Given the description of an element on the screen output the (x, y) to click on. 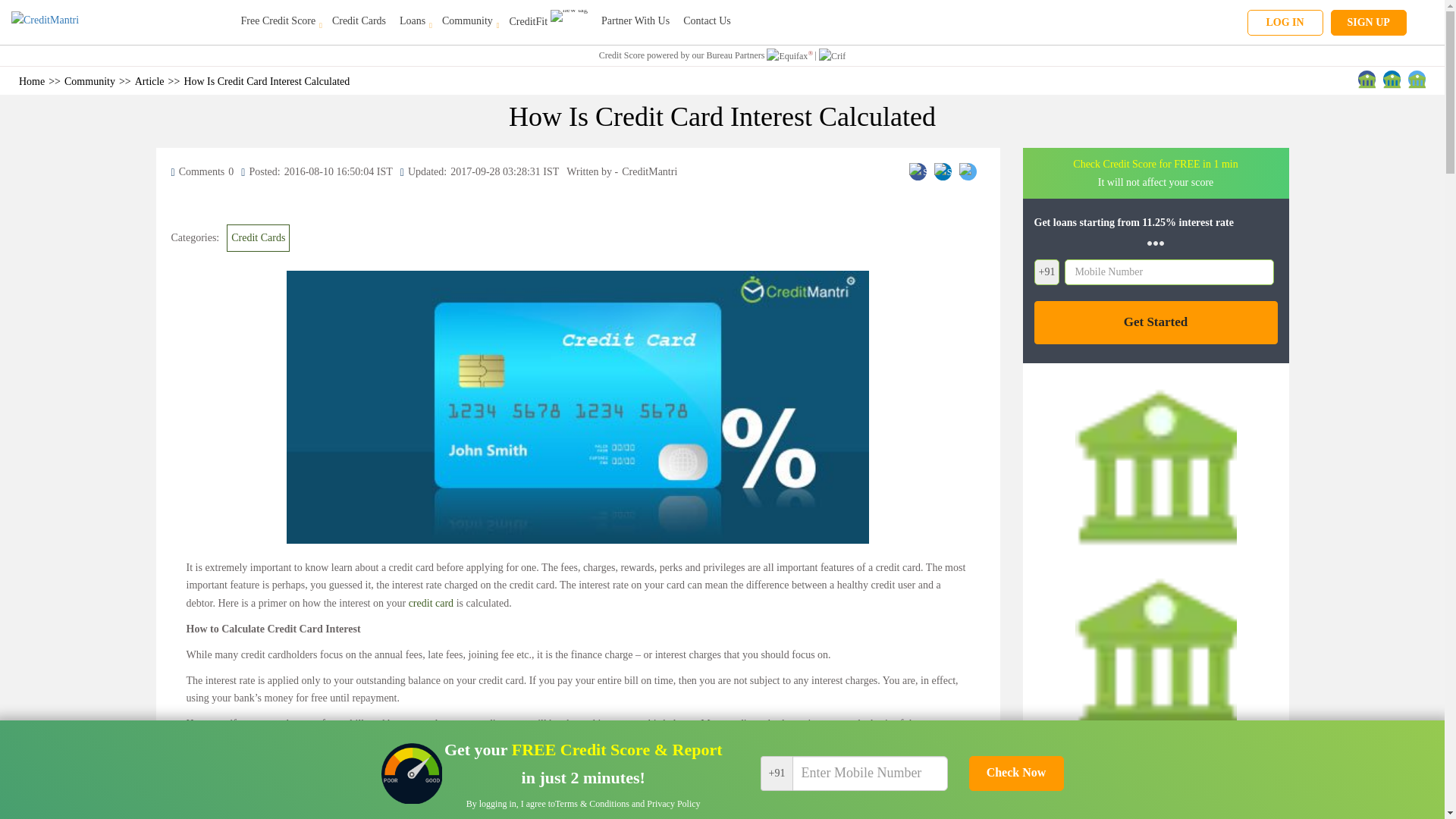
Share this page on LinkedIn (1391, 78)
How Is Credit Card Interest Calculated (266, 81)
Home (31, 81)
Contact Us (706, 19)
Loans (413, 19)
Community (89, 81)
Share this page on Twitter (1416, 78)
Article (149, 81)
Credit Cards (258, 237)
CreditMantri (120, 21)
Get Started (1155, 322)
Share this page on Twitter (967, 171)
CreditMantri (75, 21)
Free Credit Score (279, 19)
